Given the description of an element on the screen output the (x, y) to click on. 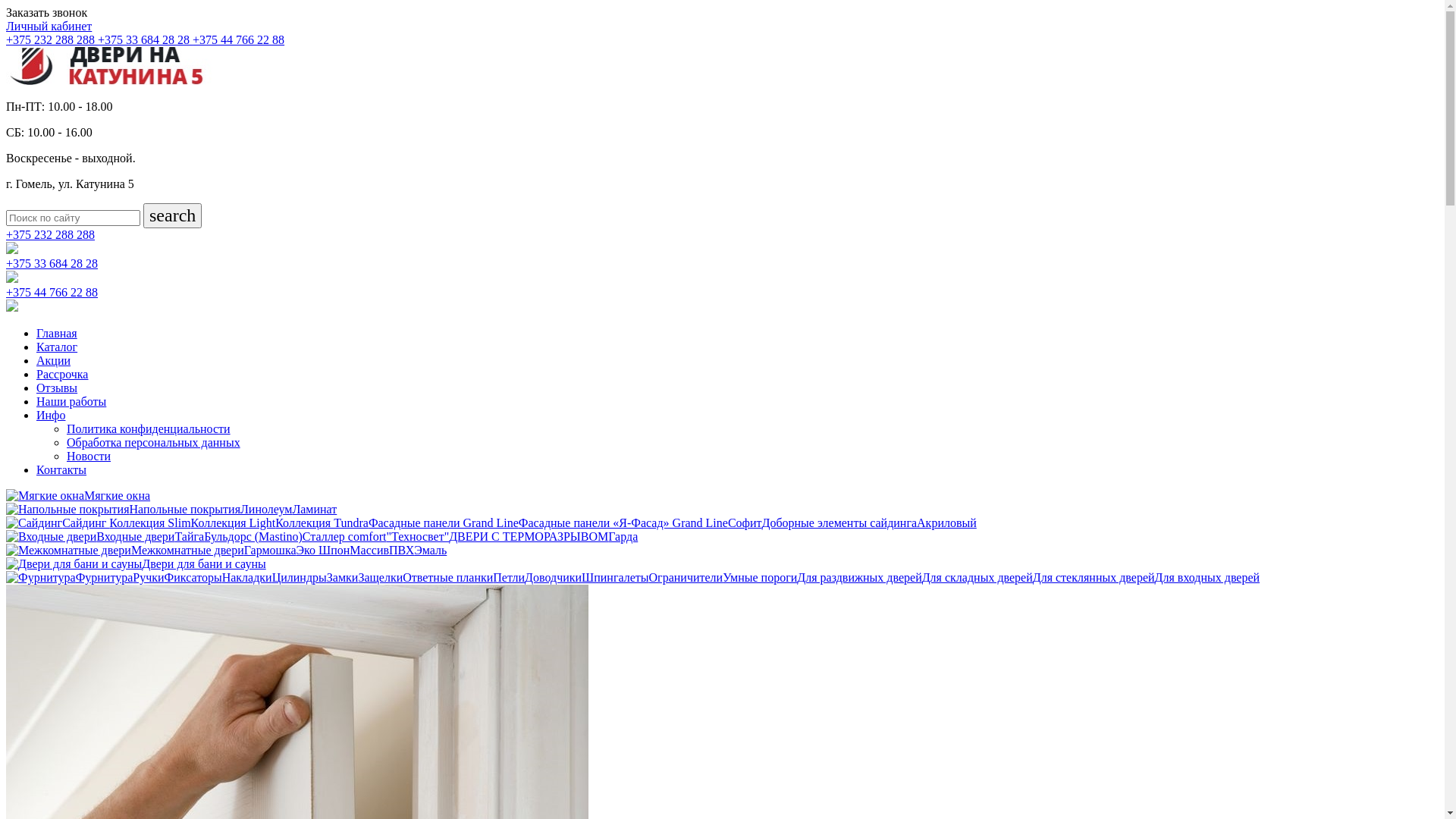
+375 44 766 22 88 Element type: text (238, 39)
+375 44 766 22 88 Element type: text (722, 292)
+375 33 684 28 28 Element type: text (722, 255)
+375 232 288 288 Element type: text (51, 39)
+375 232 288 288 Element type: text (722, 234)
+375 33 684 28 28 Element type: text (144, 39)
search Element type: text (172, 215)
